Given the description of an element on the screen output the (x, y) to click on. 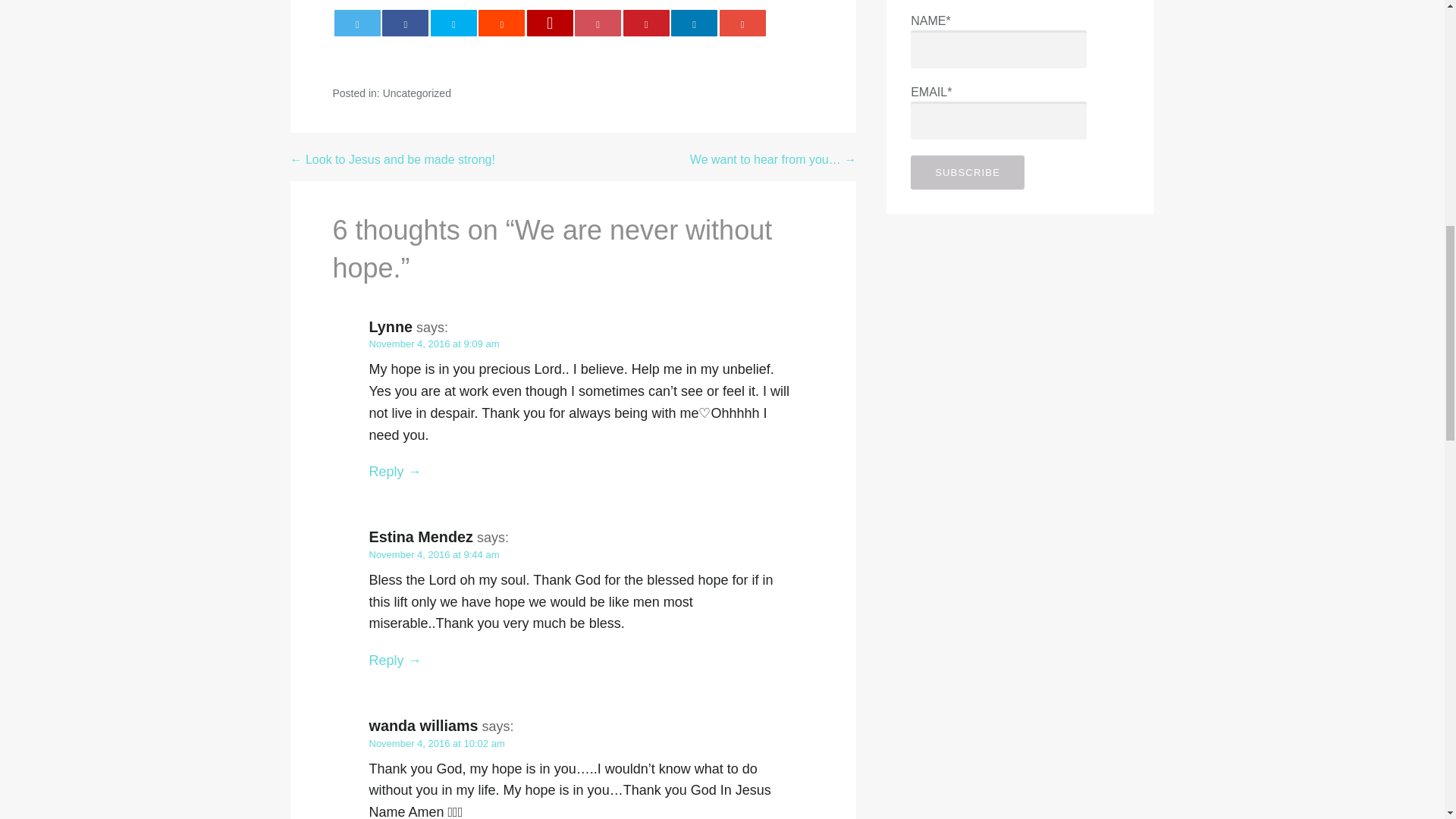
Share on Pinterest (646, 22)
November 4, 2016 at 10:02 am (435, 743)
Save to read later on Pocket (598, 22)
November 4, 2016 at 9:44 am (433, 554)
Share on Linkedin (694, 22)
Share on Facebook (404, 22)
Tweet on Twitter (357, 22)
Subscribe (968, 172)
November 4, 2016 at 9:09 am (433, 343)
Reply (394, 660)
Reply (394, 471)
Share on Skype (453, 22)
Share via mail (742, 22)
Submit to Reddit (501, 22)
